Given the description of an element on the screen output the (x, y) to click on. 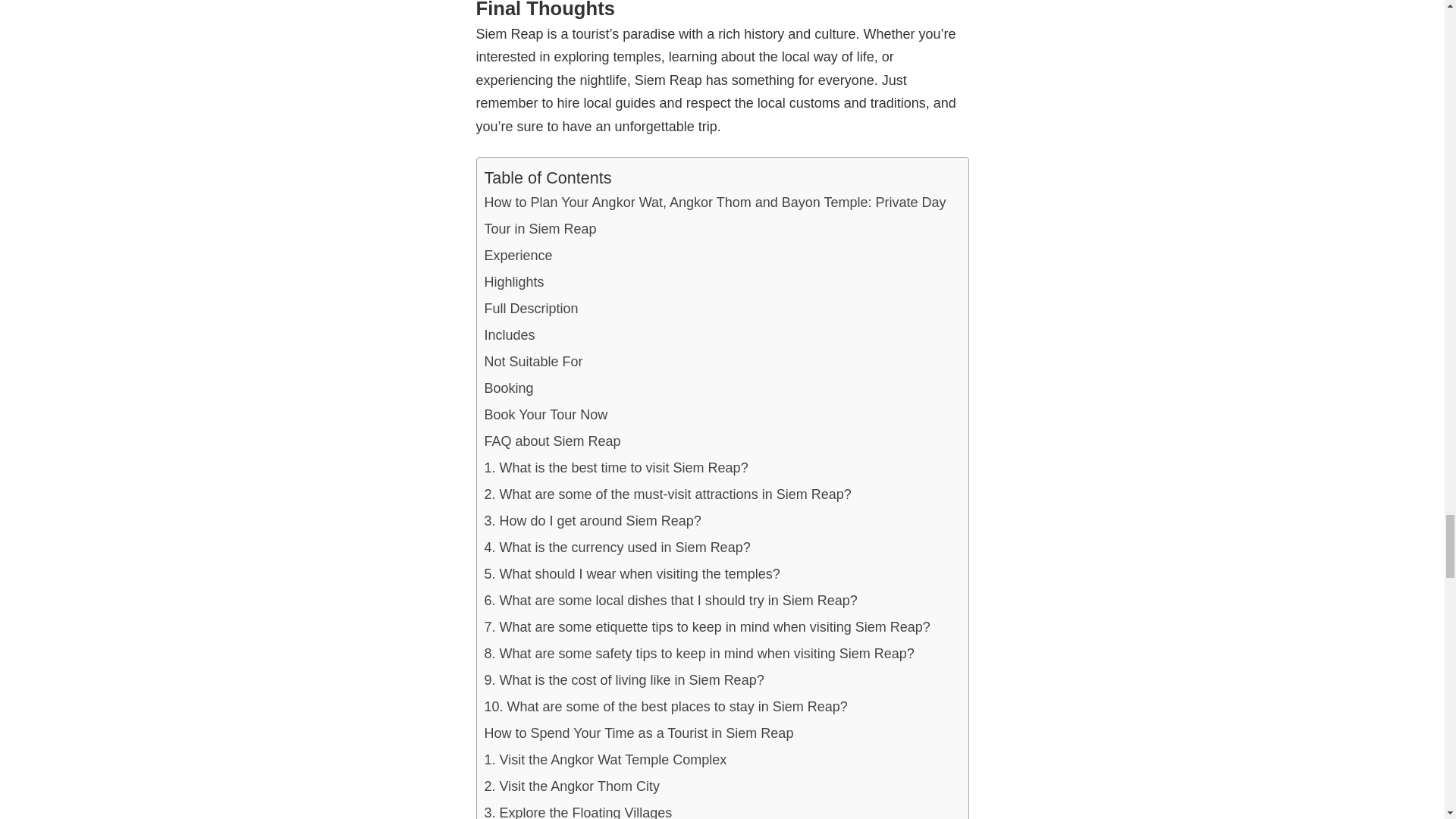
1. Visit the Angkor Wat Temple Complex (604, 759)
5. What should I wear when visiting the temples? (630, 574)
Includes (508, 335)
FAQ about Siem Reap (551, 441)
5. What should I wear when visiting the temples? (630, 574)
Booking (507, 388)
Experience (517, 255)
How to Spend Your Time as a Tourist in Siem Reap (638, 733)
4. What is the currency used in Siem Reap? (616, 547)
